Given the description of an element on the screen output the (x, y) to click on. 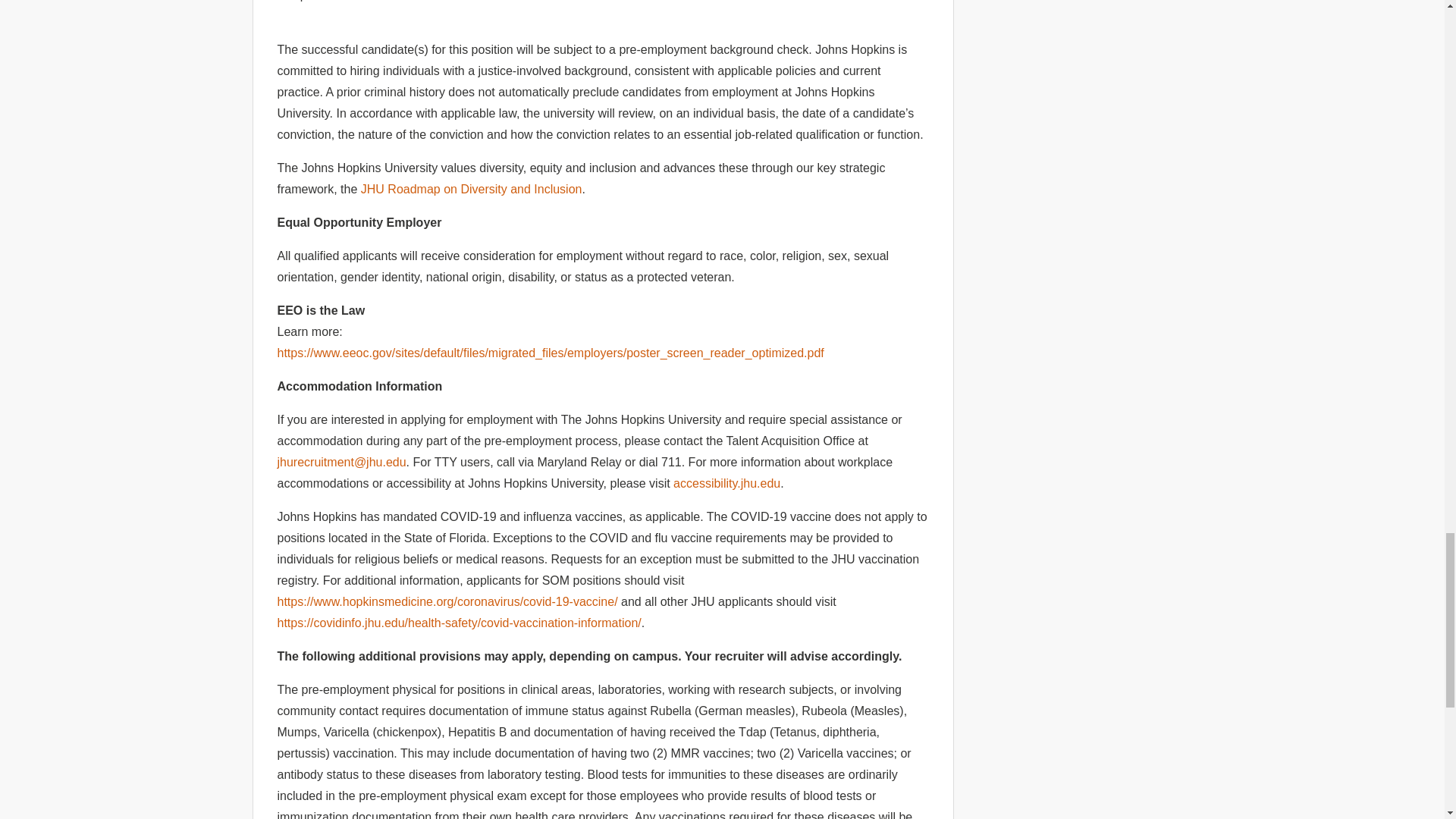
JHU Roadmap on Diversity and Inclusion (471, 188)
accessibility.jhu.edu (726, 482)
